Given the description of an element on the screen output the (x, y) to click on. 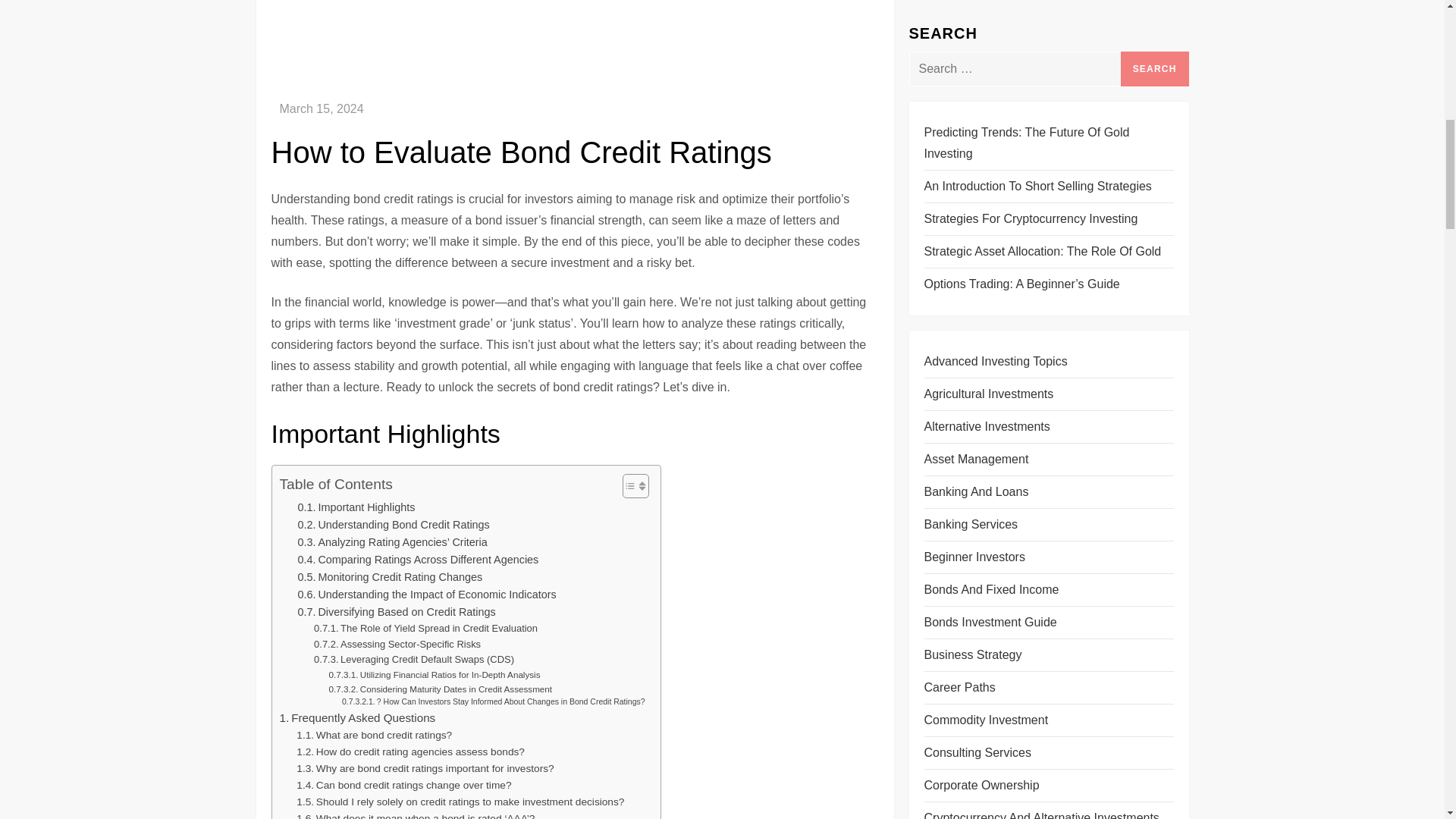
Considering Maturity Dates in Credit Assessment (441, 689)
March 15, 2024 (320, 108)
Monitoring Credit Rating Changes (389, 577)
Understanding Bond Credit Ratings (393, 524)
What are bond credit ratings? (374, 735)
Comparing Ratings Across Different Agencies (417, 559)
Considering Maturity Dates in Credit Assessment (441, 689)
Important Highlights (355, 507)
